Given the description of an element on the screen output the (x, y) to click on. 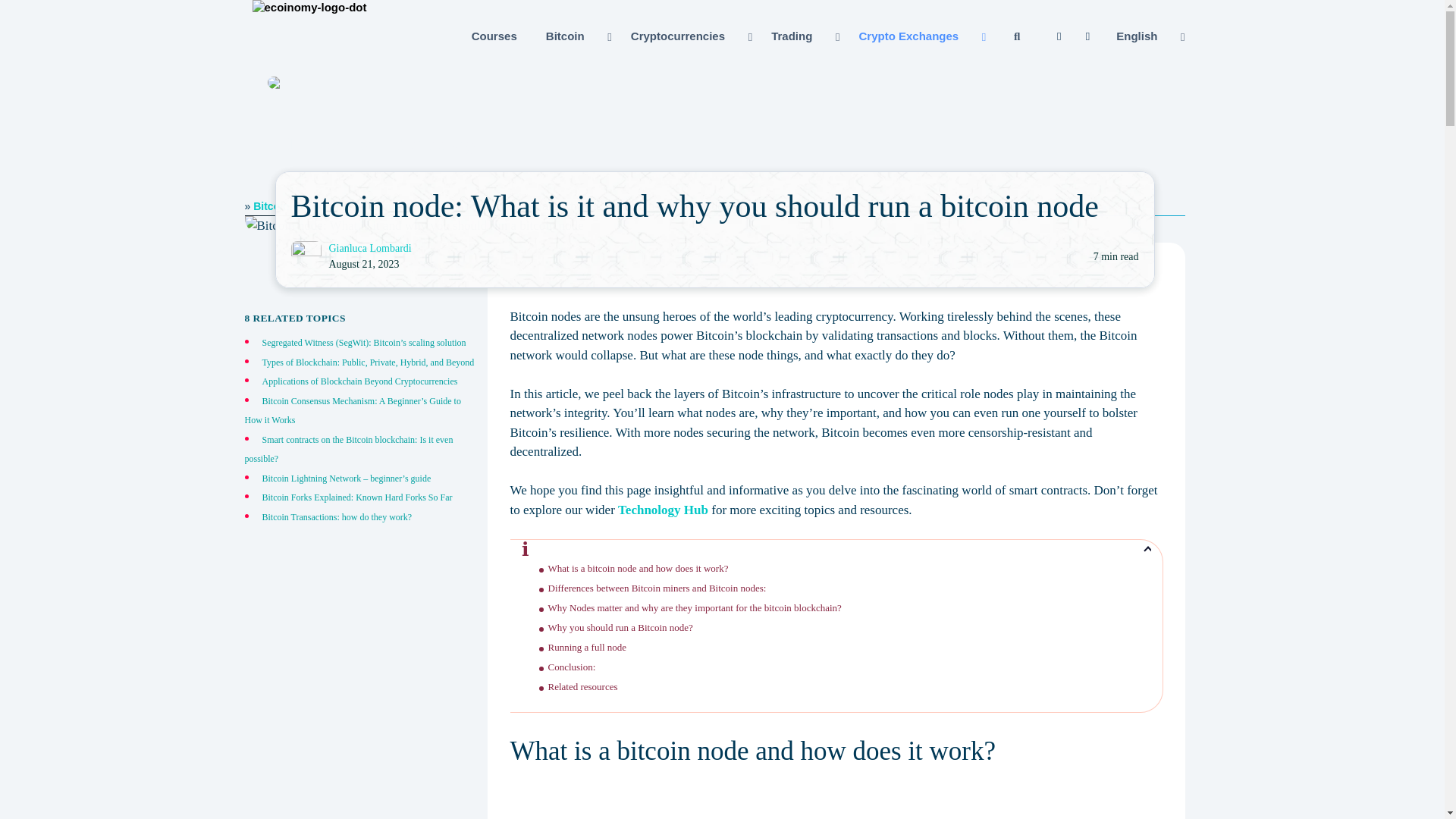
Bitcoin (577, 36)
Courses (494, 36)
Cryptocurrencies (690, 36)
Trading (803, 36)
Crypto Exchanges (919, 36)
